Given the description of an element on the screen output the (x, y) to click on. 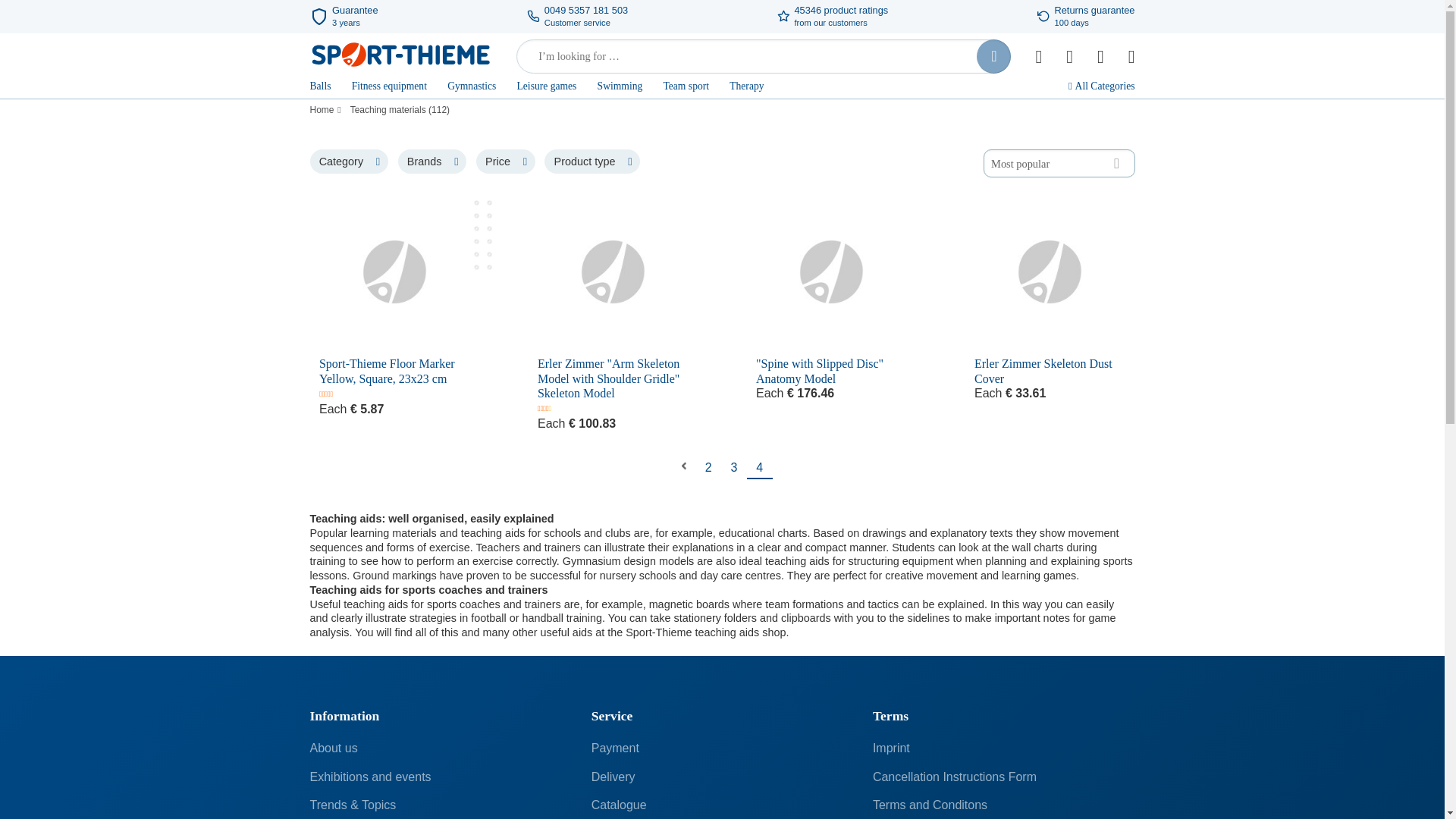
Leisure games (546, 88)
Shopping Cart (1131, 56)
Login (1100, 56)
Therapy (745, 88)
Team sport (685, 88)
Balls (319, 88)
Swimming (619, 88)
Home (322, 110)
Gymnastics (471, 88)
Fitness equipment (389, 88)
